Given the description of an element on the screen output the (x, y) to click on. 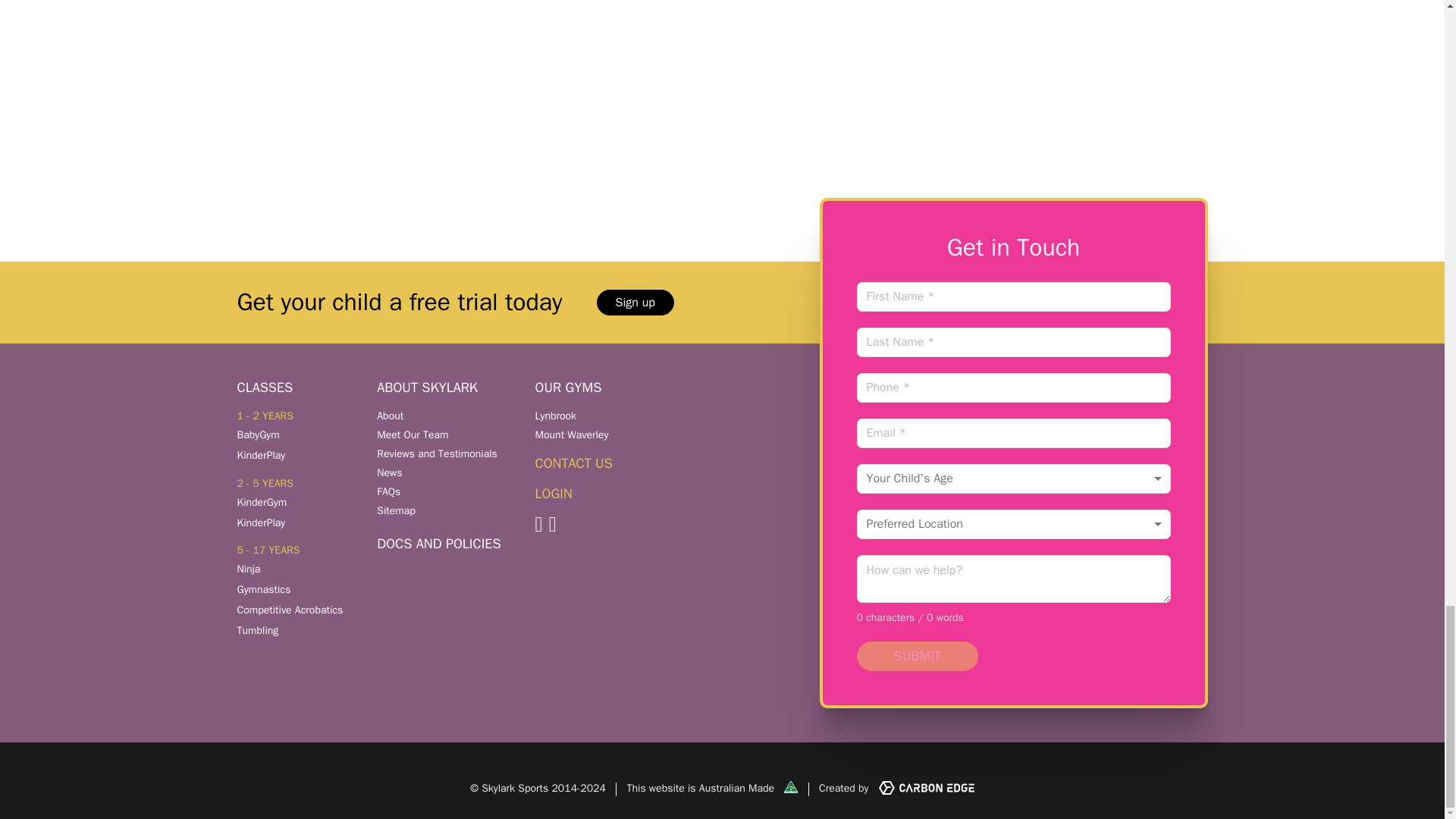
KinderPlay (260, 455)
Meet Our Team (438, 434)
Sign up (633, 302)
Tumbling (256, 630)
News (438, 472)
Ninja (247, 569)
Competitive Acrobatics (288, 609)
BabyGym (257, 434)
Reviews and Testimonials (438, 453)
KinderPlay (260, 522)
KinderGym (260, 502)
Gymnastics (262, 589)
About (438, 415)
